Given the description of an element on the screen output the (x, y) to click on. 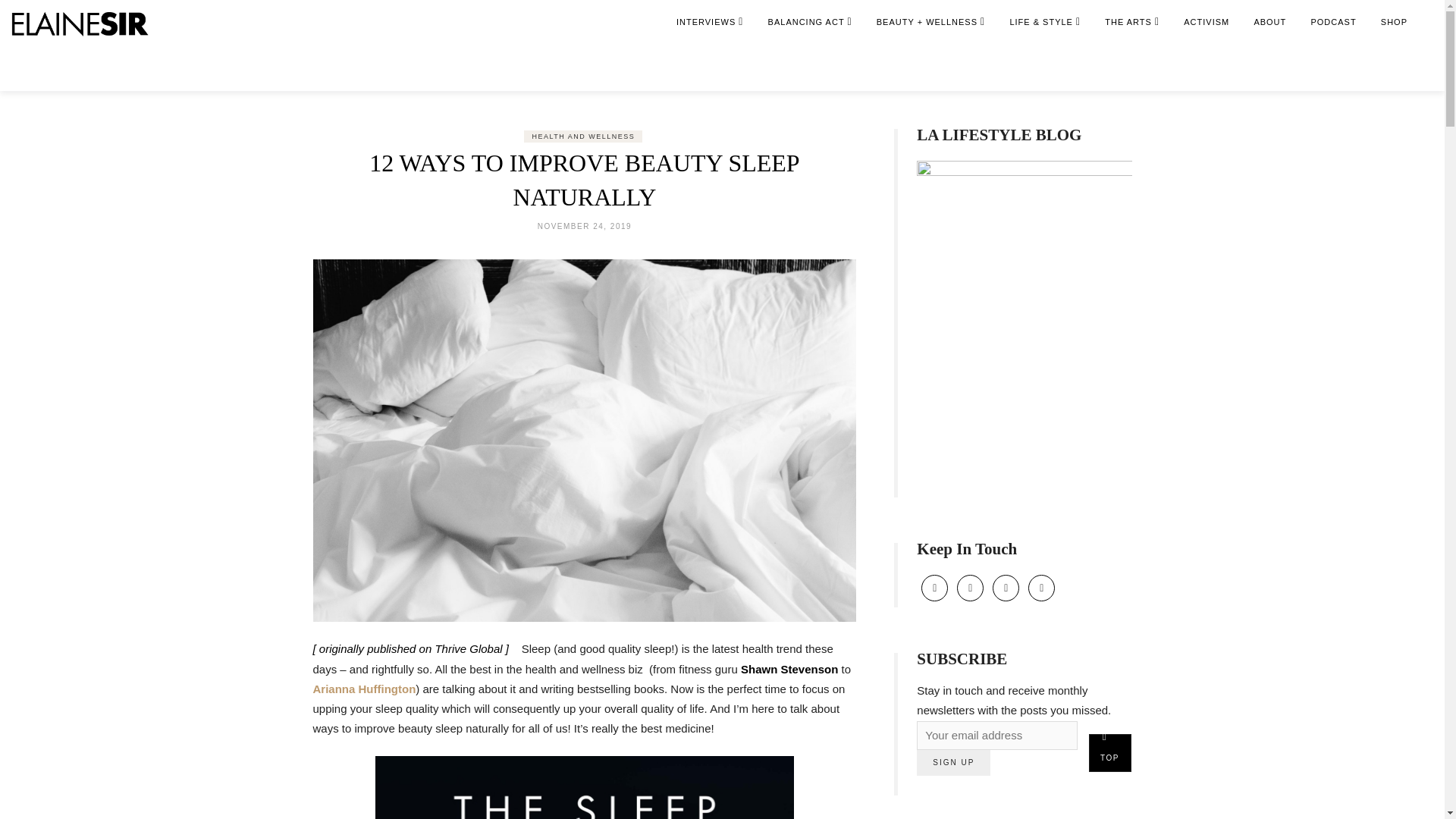
NOVEMBER 24, 2019 (584, 225)
INTERVIEWS (709, 21)
HEALTH AND WELLNESS (583, 136)
THE ARTS (1132, 21)
PODCAST (1333, 21)
ACTIVISM (1206, 21)
BALANCING ACT (810, 21)
ABOUT (1270, 21)
Sign up (953, 762)
Shawn Stevenson (789, 668)
